Given the description of an element on the screen output the (x, y) to click on. 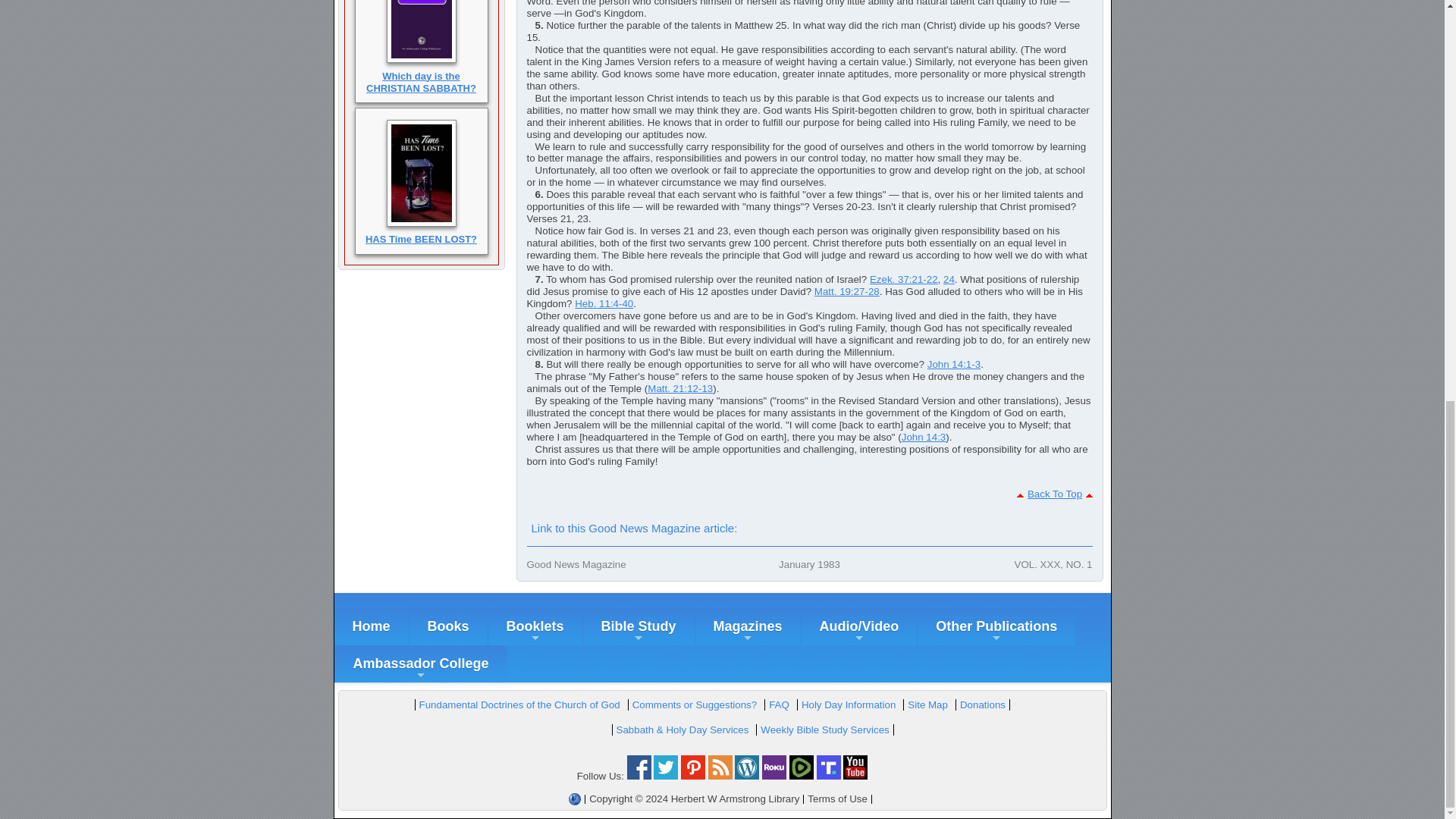
HWALibrary - Rumble (801, 776)
HWALibrary - Wordpress (746, 776)
HWALibrary - Twitter (665, 776)
HWALibrary - Roku TV (773, 776)
HWALibrary - Facebook (638, 776)
HWALibrary - RSS Feed (719, 776)
Worldwide Church of God (574, 799)
HWALibrary - Pinterest (692, 776)
HWALibrary - YouTube (855, 776)
Link to this Good News Magazine article: (633, 527)
Click here to link to this Good News Magazine article. (633, 527)
